Given the description of an element on the screen output the (x, y) to click on. 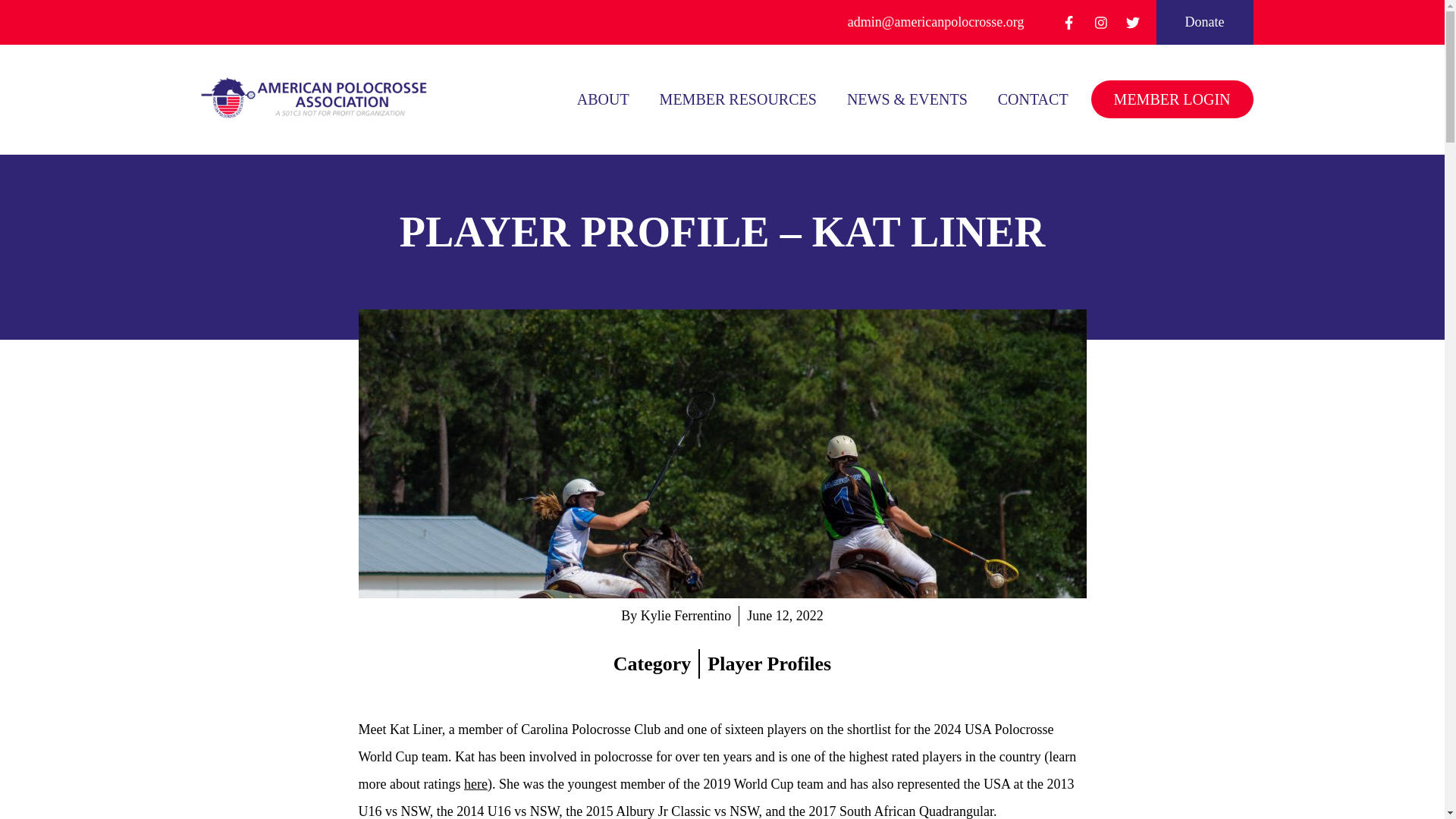
CONTACT (1032, 98)
ABOUT (603, 98)
here (475, 783)
Donate (1204, 22)
MEMBER LOGIN (1172, 98)
MEMBER RESOURCES (738, 98)
